Given the description of an element on the screen output the (x, y) to click on. 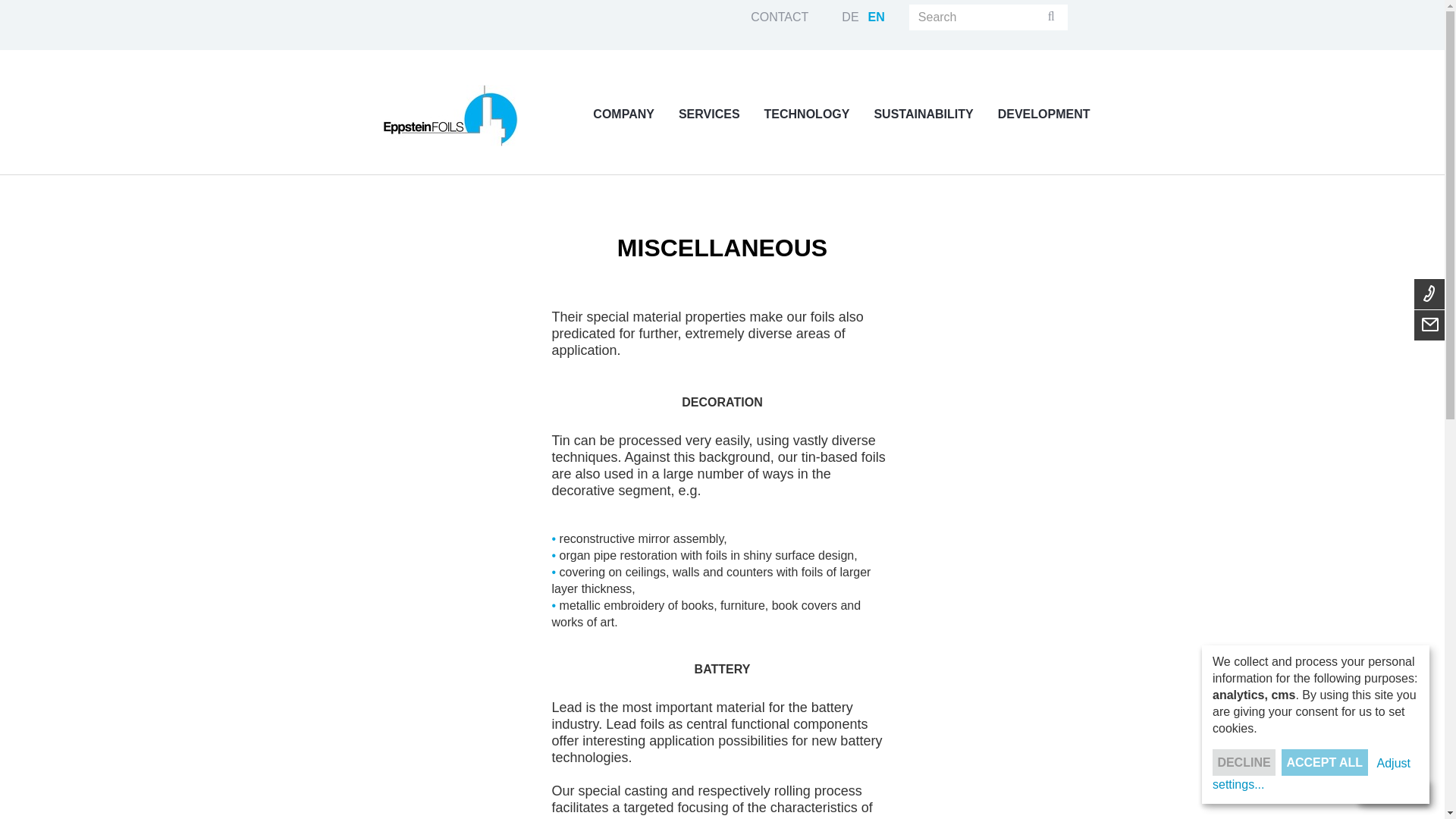
Miscellaneous (876, 16)
ACCEPT ALL (1324, 762)
COMPANY (618, 114)
DE (850, 16)
EN (876, 16)
SUSTAINABILITY (918, 114)
Home (449, 115)
DECLINE (1243, 762)
TECHNOLOGY (802, 114)
DEVELOPMENT (1039, 114)
